Given the description of an element on the screen output the (x, y) to click on. 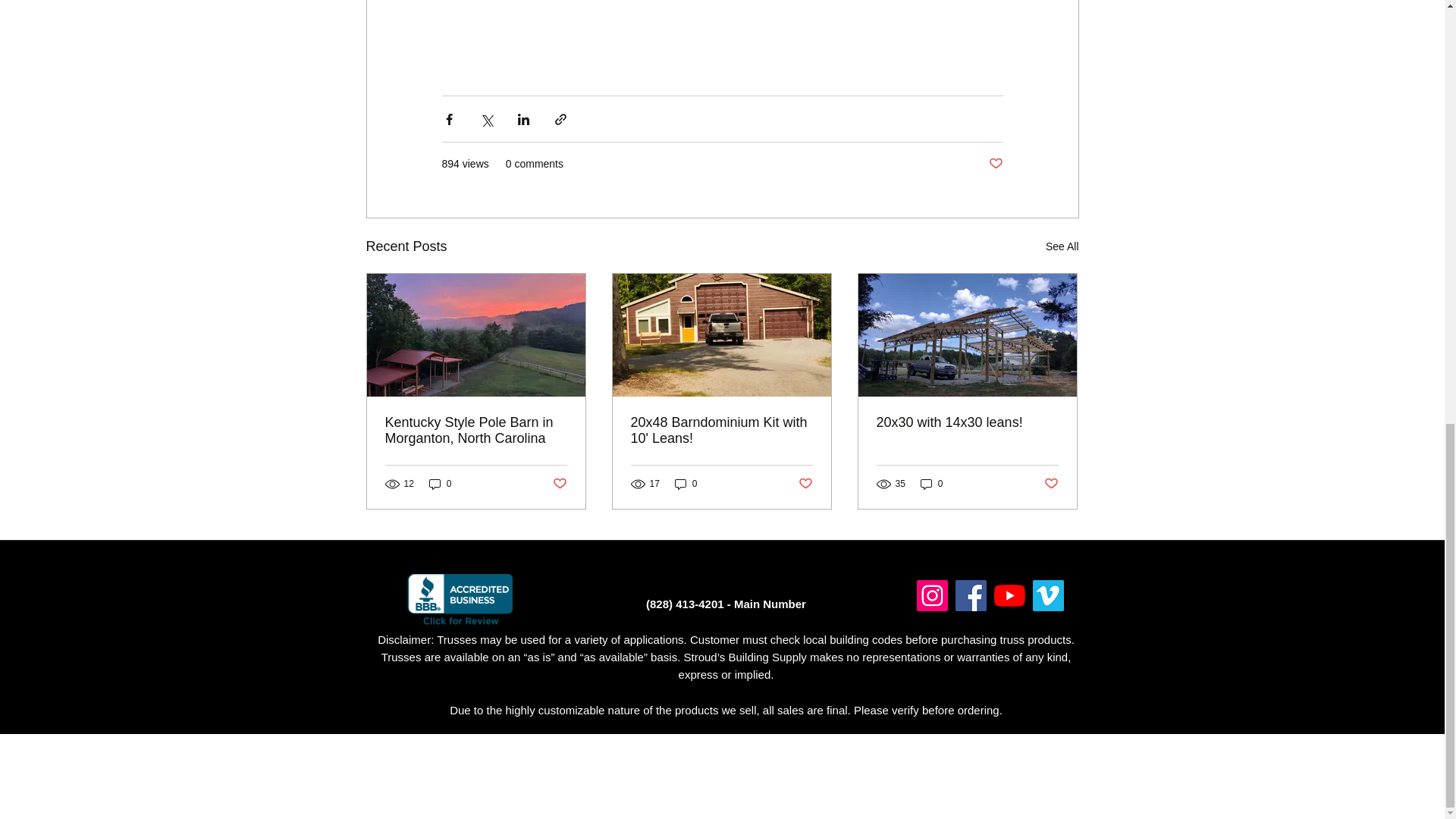
20x30 with 14x30 leans! (967, 422)
Kentucky Style Pole Barn in Morganton, North Carolina (476, 430)
Post not marked as liked (804, 483)
Post not marked as liked (1050, 483)
0 (685, 483)
See All (1061, 246)
Post not marked as liked (995, 163)
0 (440, 483)
0 (931, 483)
Post not marked as liked (558, 483)
